Given the description of an element on the screen output the (x, y) to click on. 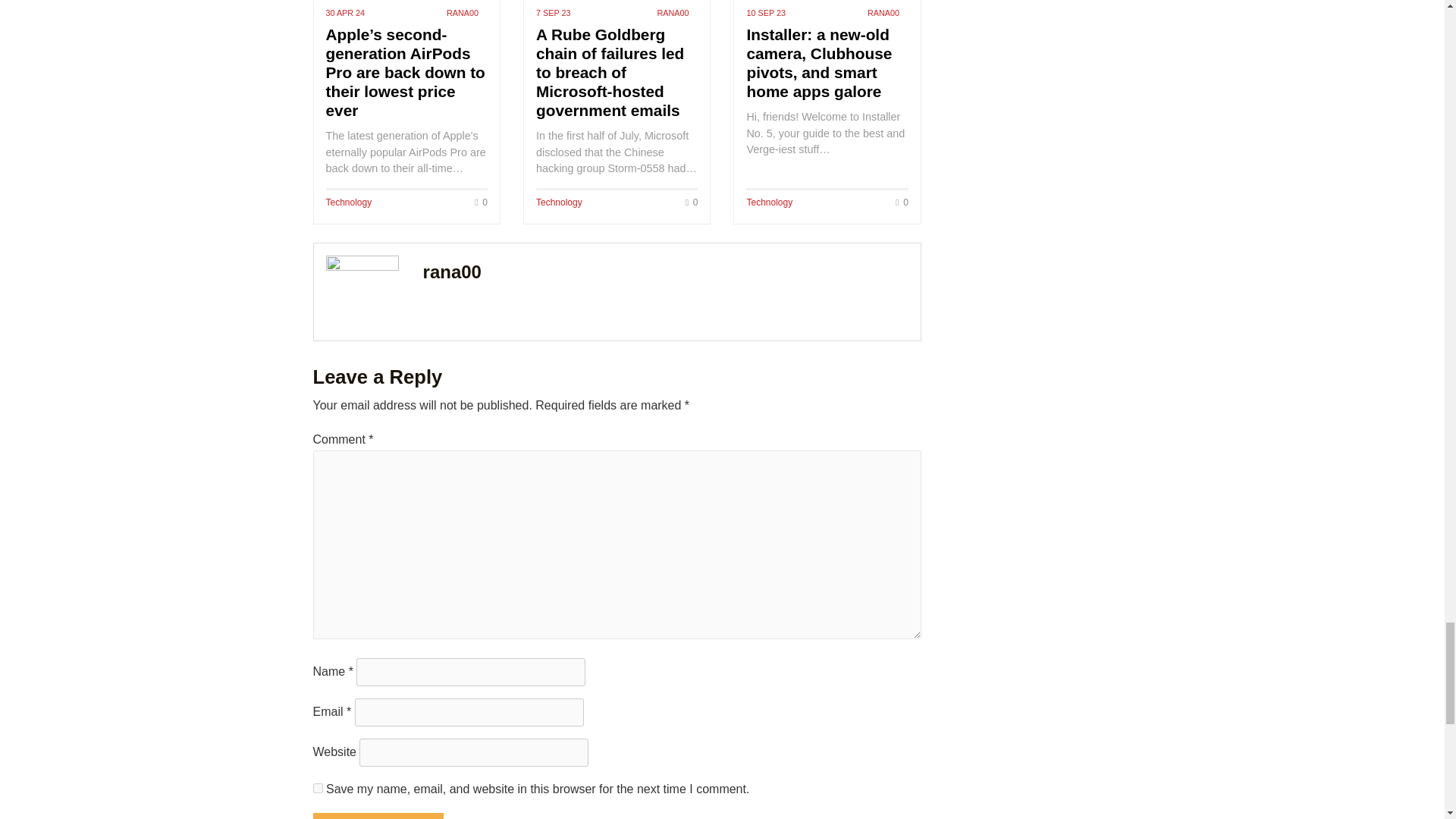
RANA00 (672, 11)
Technology (768, 202)
30 APR 24 (345, 12)
RANA00 (462, 11)
yes (317, 787)
Technology (349, 202)
Post Comment (377, 816)
7 SEP 23 (552, 12)
Technology (558, 202)
RANA00 (883, 11)
10 SEP 23 (764, 12)
